Given the description of an element on the screen output the (x, y) to click on. 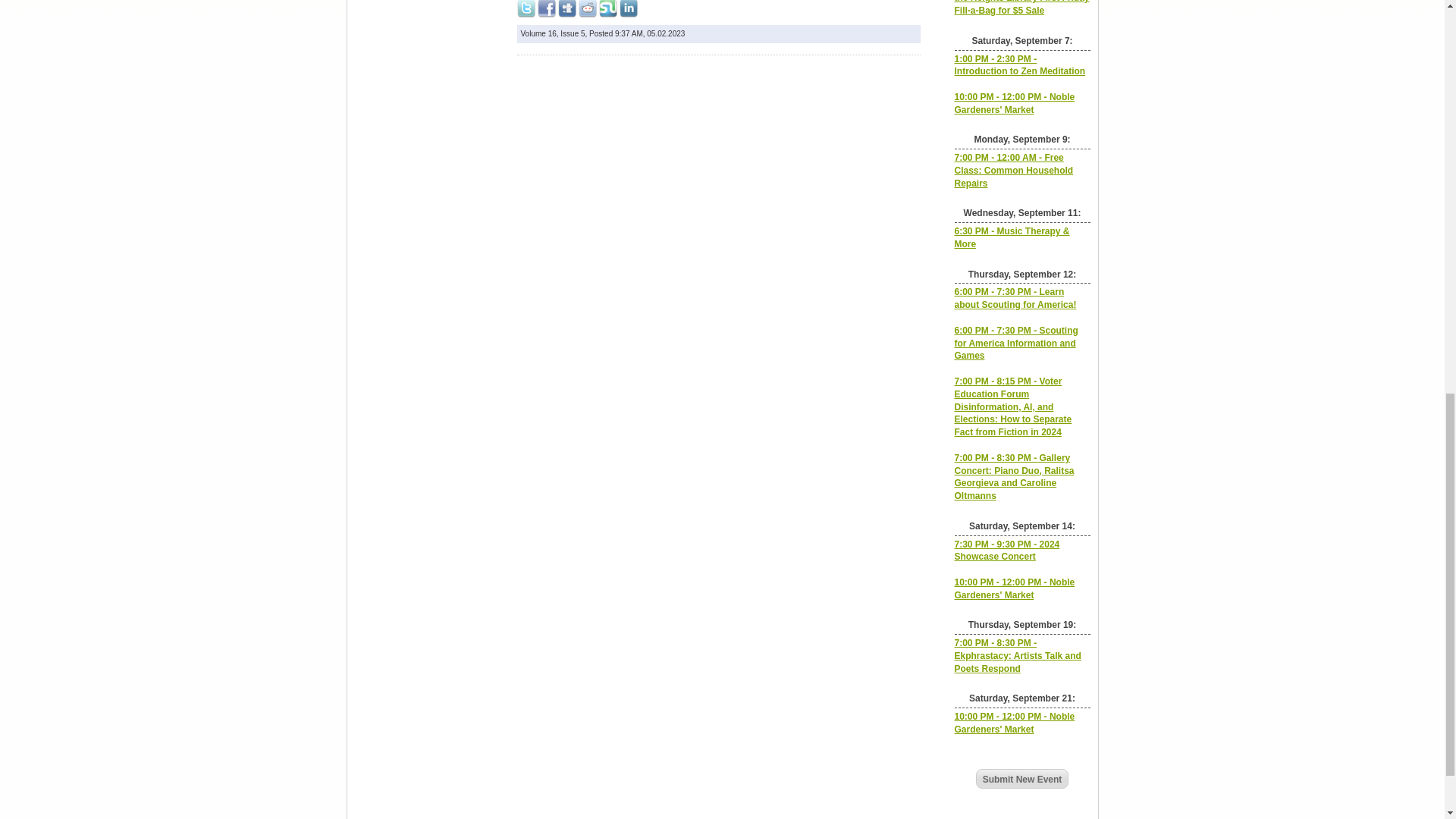
Share on Twitter (525, 8)
Share on Reddit (586, 8)
Share on Reddit (586, 8)
Share on Twitter (525, 8)
Share on LinkedIn (627, 8)
Share on LinkedIn (627, 8)
Share on Digg (566, 8)
Share on Digg (566, 8)
Share on StumbleUpon (607, 8)
Share on StumbleUpon (607, 8)
